Given the description of an element on the screen output the (x, y) to click on. 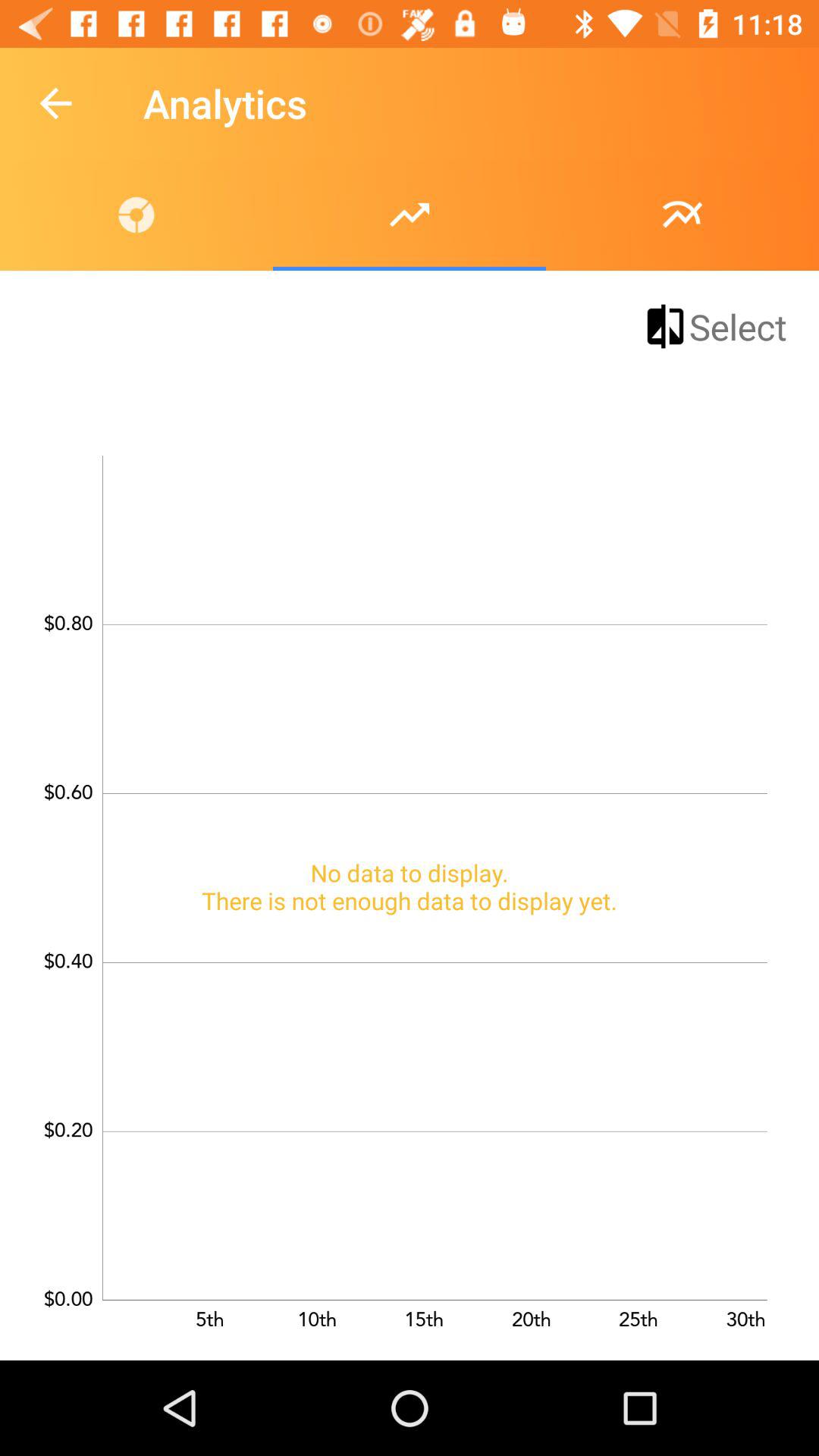
press select icon (714, 326)
